Given the description of an element on the screen output the (x, y) to click on. 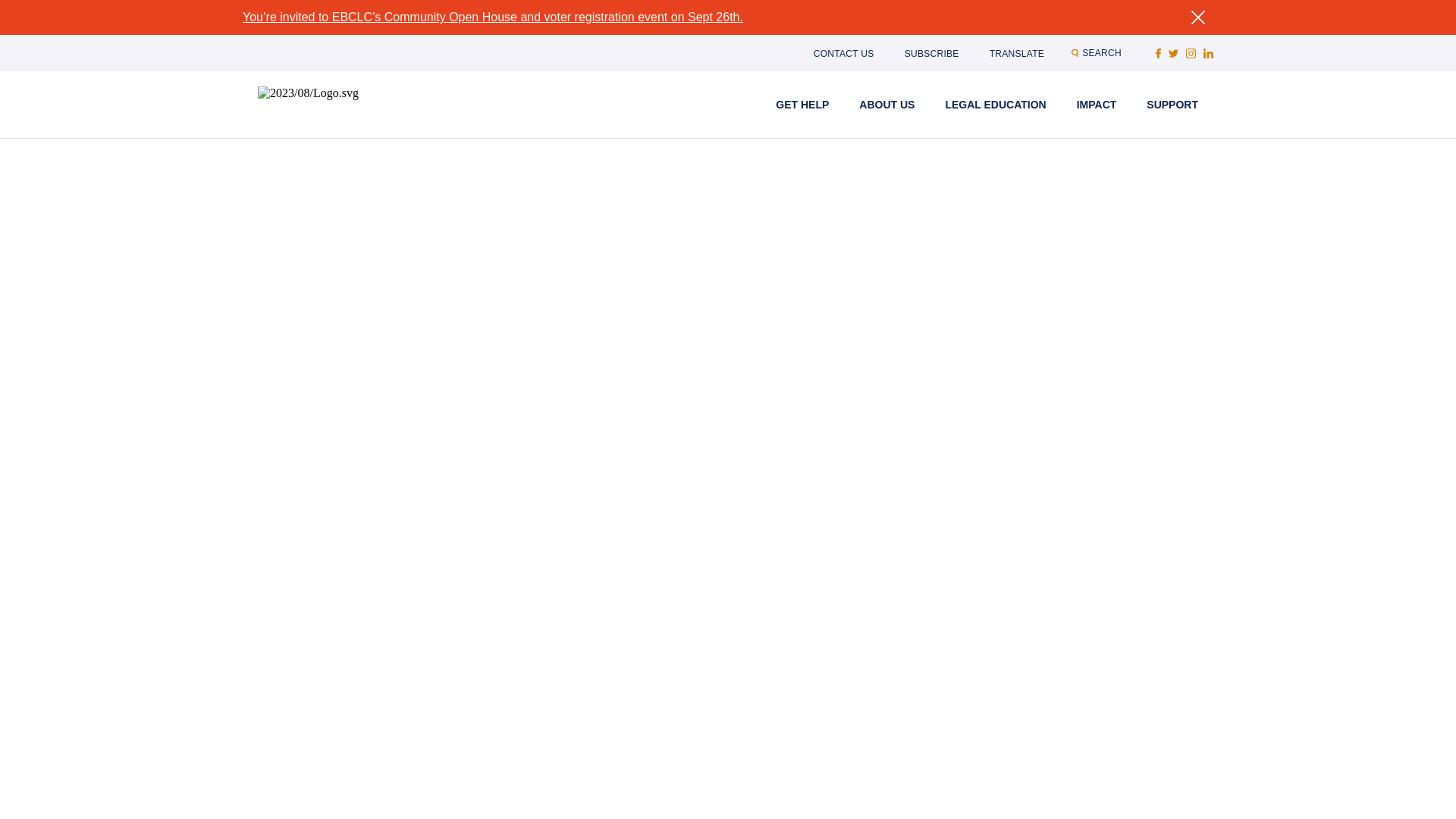
ABOUT US (886, 104)
SEARCH (1101, 52)
Instagram (1190, 53)
CONTACT US (844, 53)
IMPACT (1096, 104)
LEGAL EDUCATION (994, 104)
SUBSCRIBE (931, 53)
SUPPORT (1172, 104)
CLOSE BANNER (1197, 17)
GET HELP (802, 104)
